Given the description of an element on the screen output the (x, y) to click on. 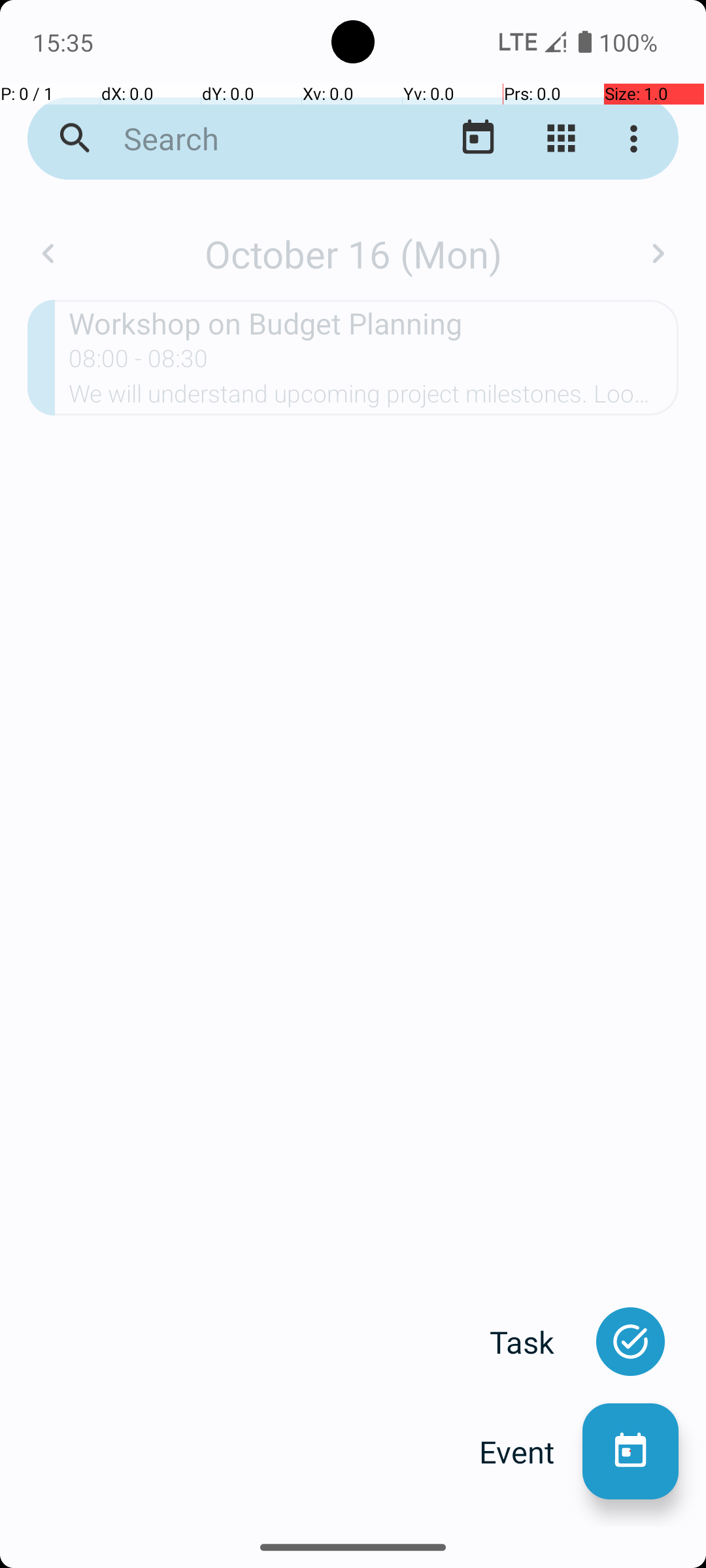
Workshop on Budget Planning Element type: android.widget.TextView (373, 321)
08:00 - 08:30 Element type: android.widget.TextView (137, 362)
We will understand upcoming project milestones. Looking forward to productive discussions. Element type: android.widget.TextView (373, 397)
